Given the description of an element on the screen output the (x, y) to click on. 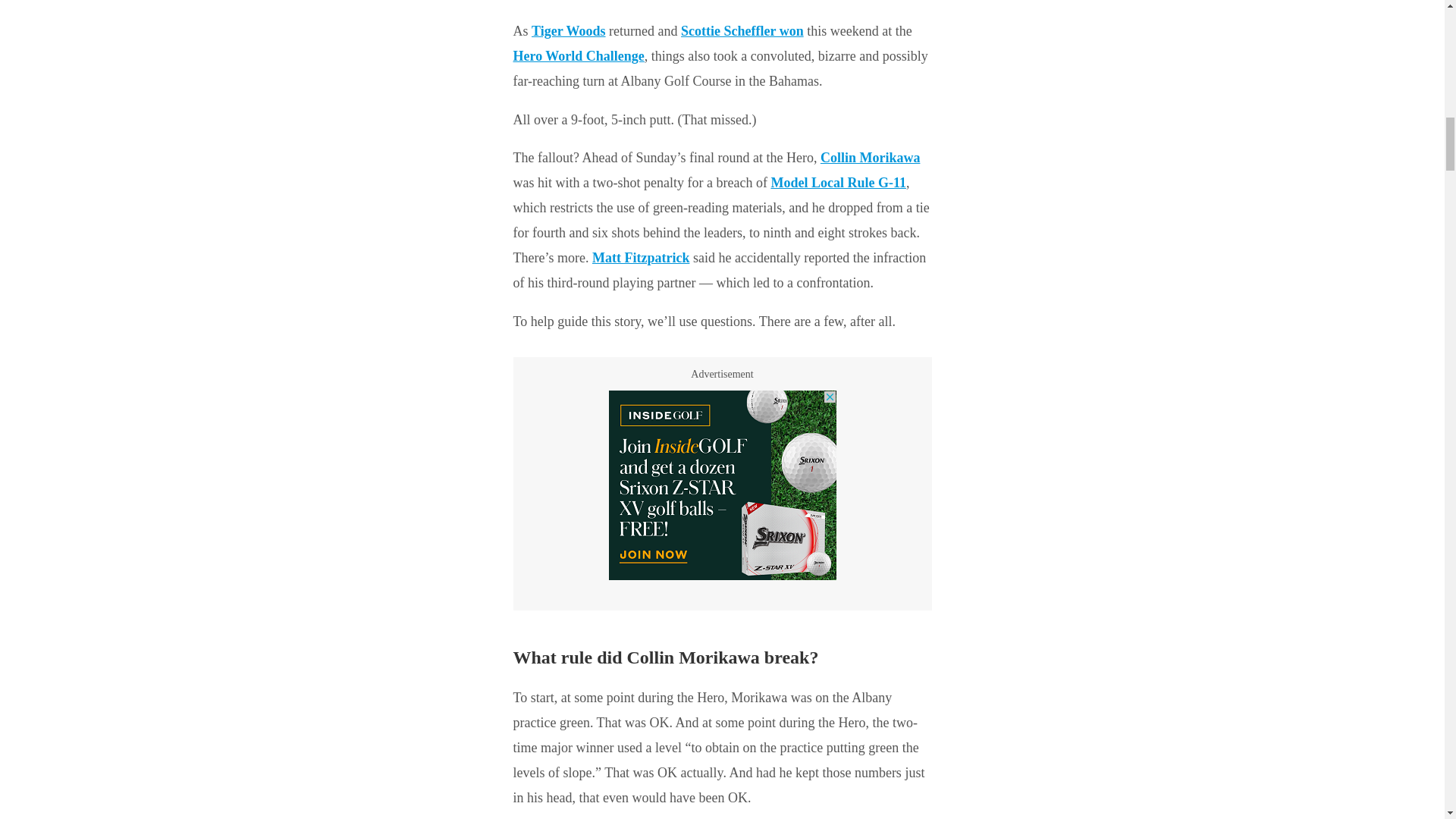
Matt Fitzpatrick (640, 257)
Tiger Woods (568, 30)
Collin Morikawa (870, 157)
Model Local Rule G-11 (837, 182)
Hero World Challenge (577, 55)
3rd party ad content (721, 484)
Scottie Scheffler won (742, 30)
